Given the description of an element on the screen output the (x, y) to click on. 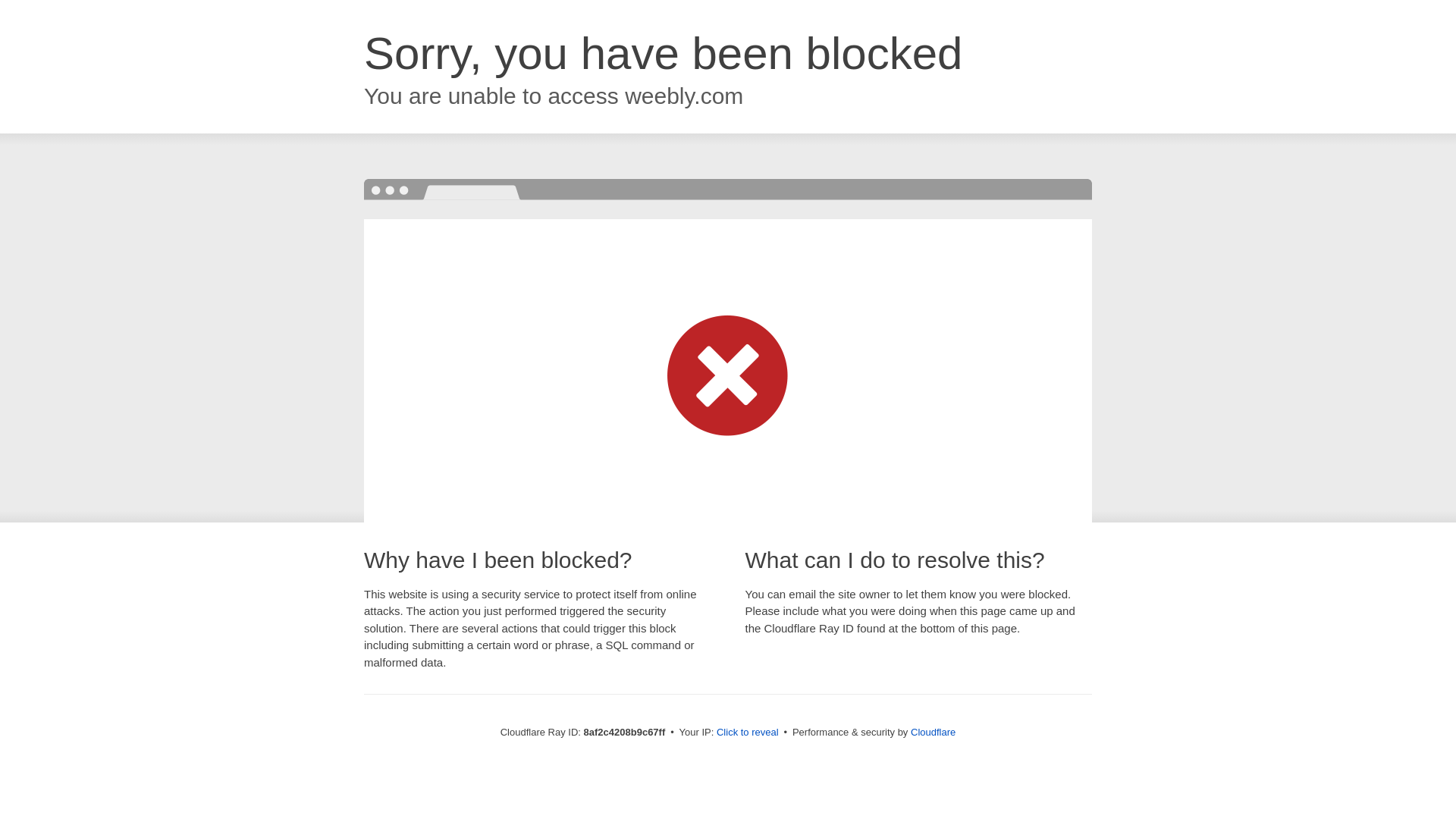
Click to reveal (747, 732)
Cloudflare (933, 731)
